Given the description of an element on the screen output the (x, y) to click on. 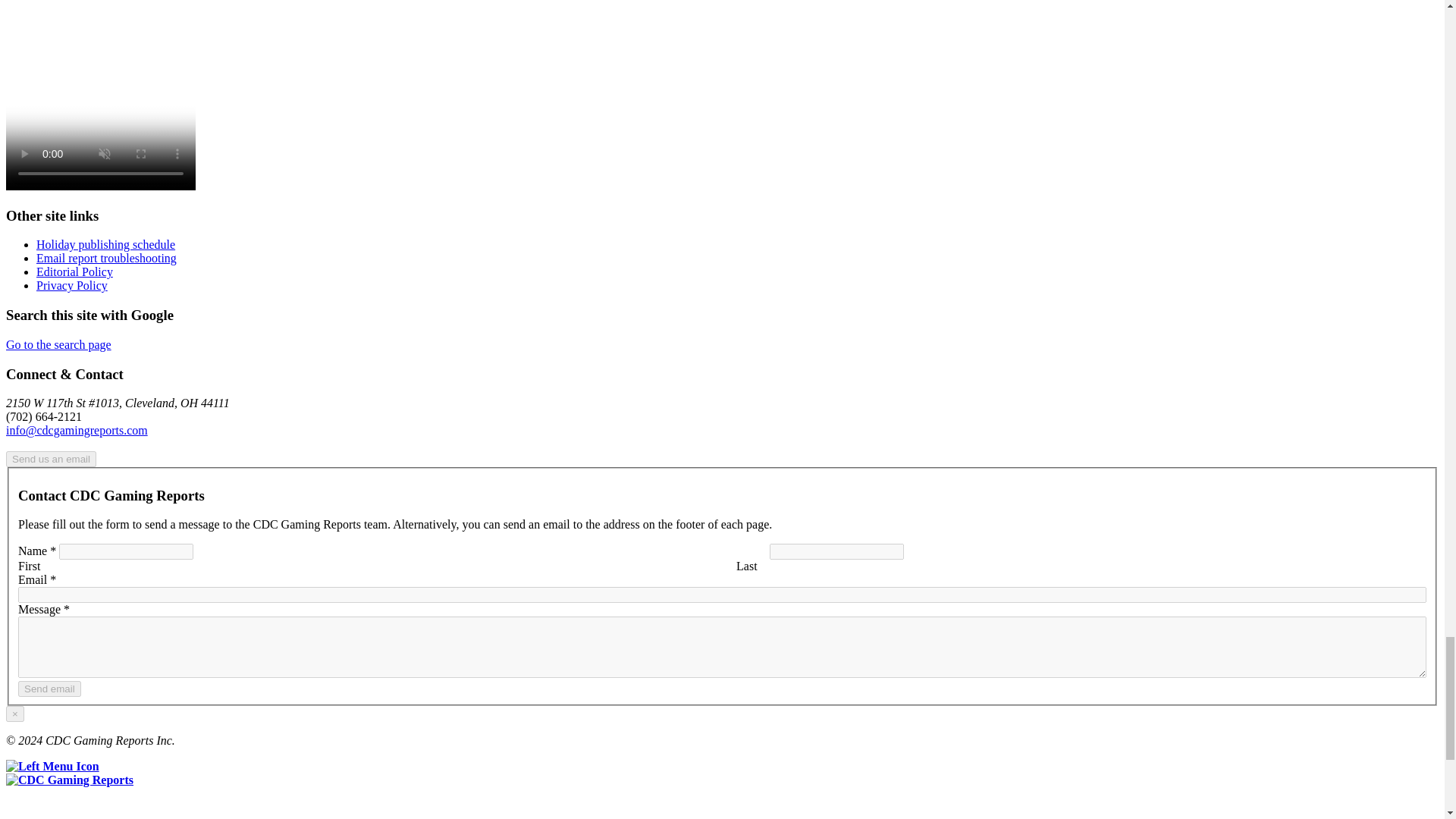
Email report troubleshooting (106, 257)
Holiday publishing schedule (105, 244)
